Given the description of an element on the screen output the (x, y) to click on. 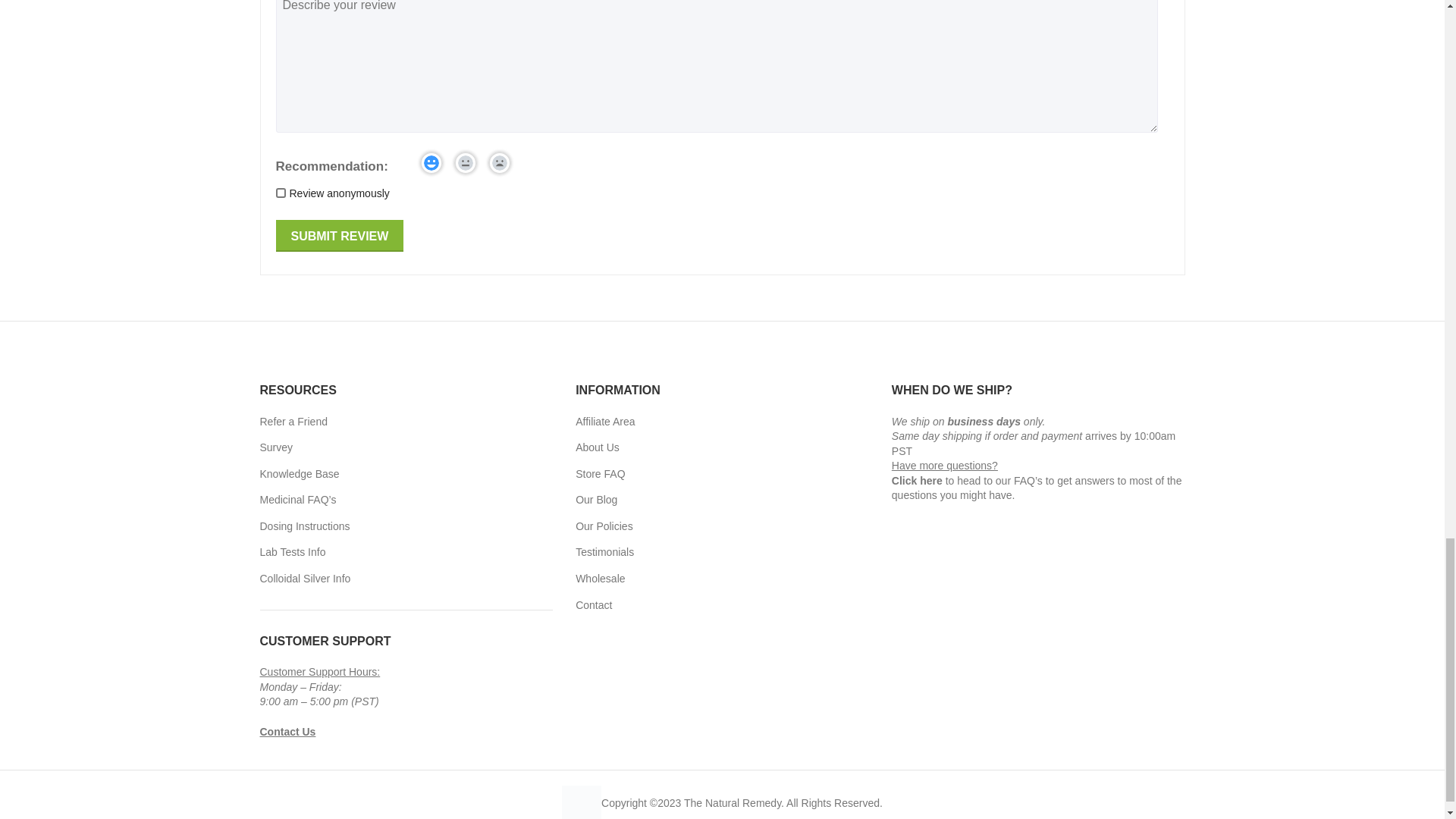
Submit Review (340, 235)
